Given the description of an element on the screen output the (x, y) to click on. 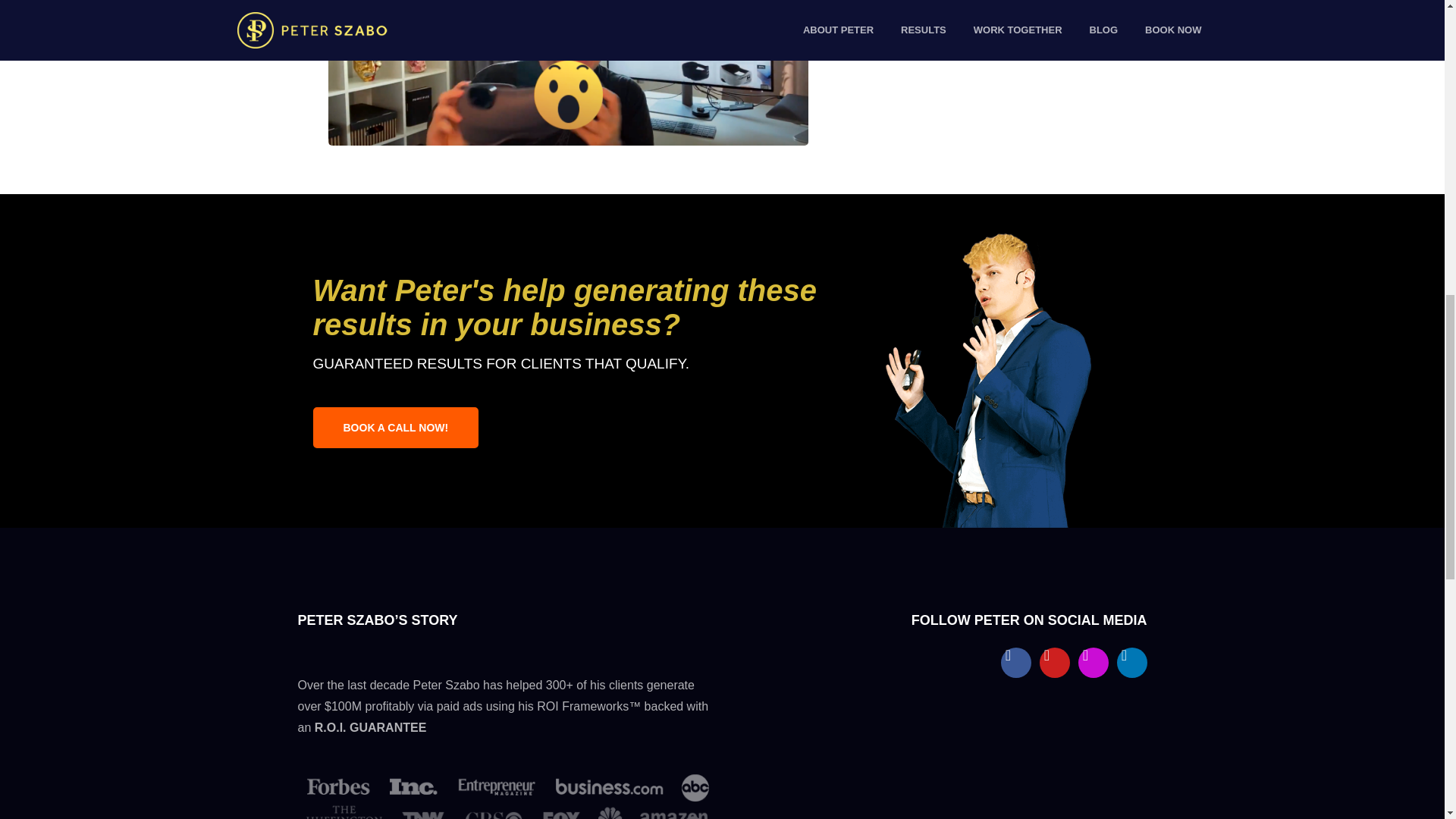
BOOK A CALL NOW! (396, 427)
